Given the description of an element on the screen output the (x, y) to click on. 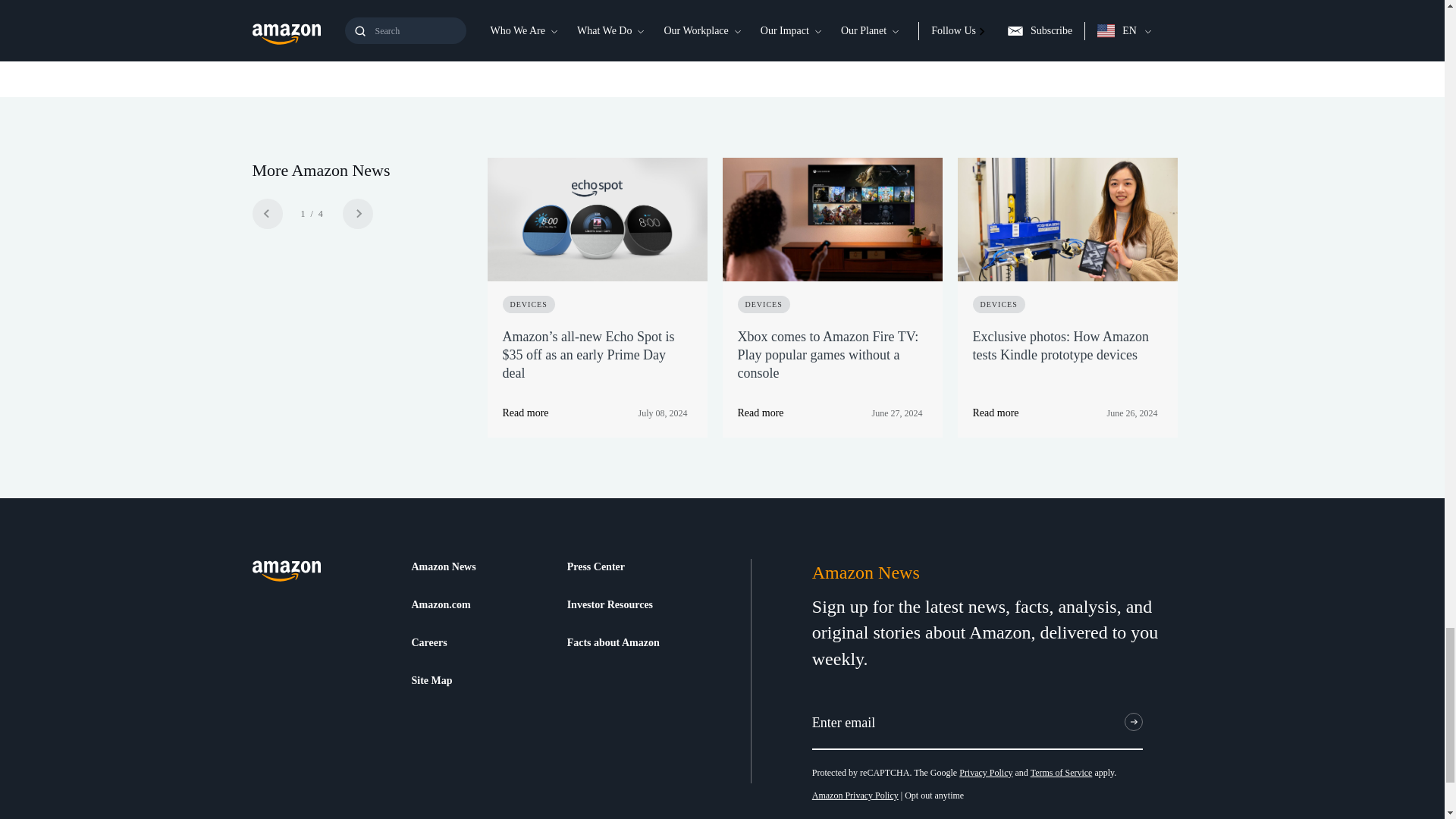
LinkedIn Share (386, 816)
YouTube (425, 816)
Instagram (308, 816)
Twitter Share (347, 816)
About Amazon Home (285, 571)
Facebook Share (269, 816)
